Given the description of an element on the screen output the (x, y) to click on. 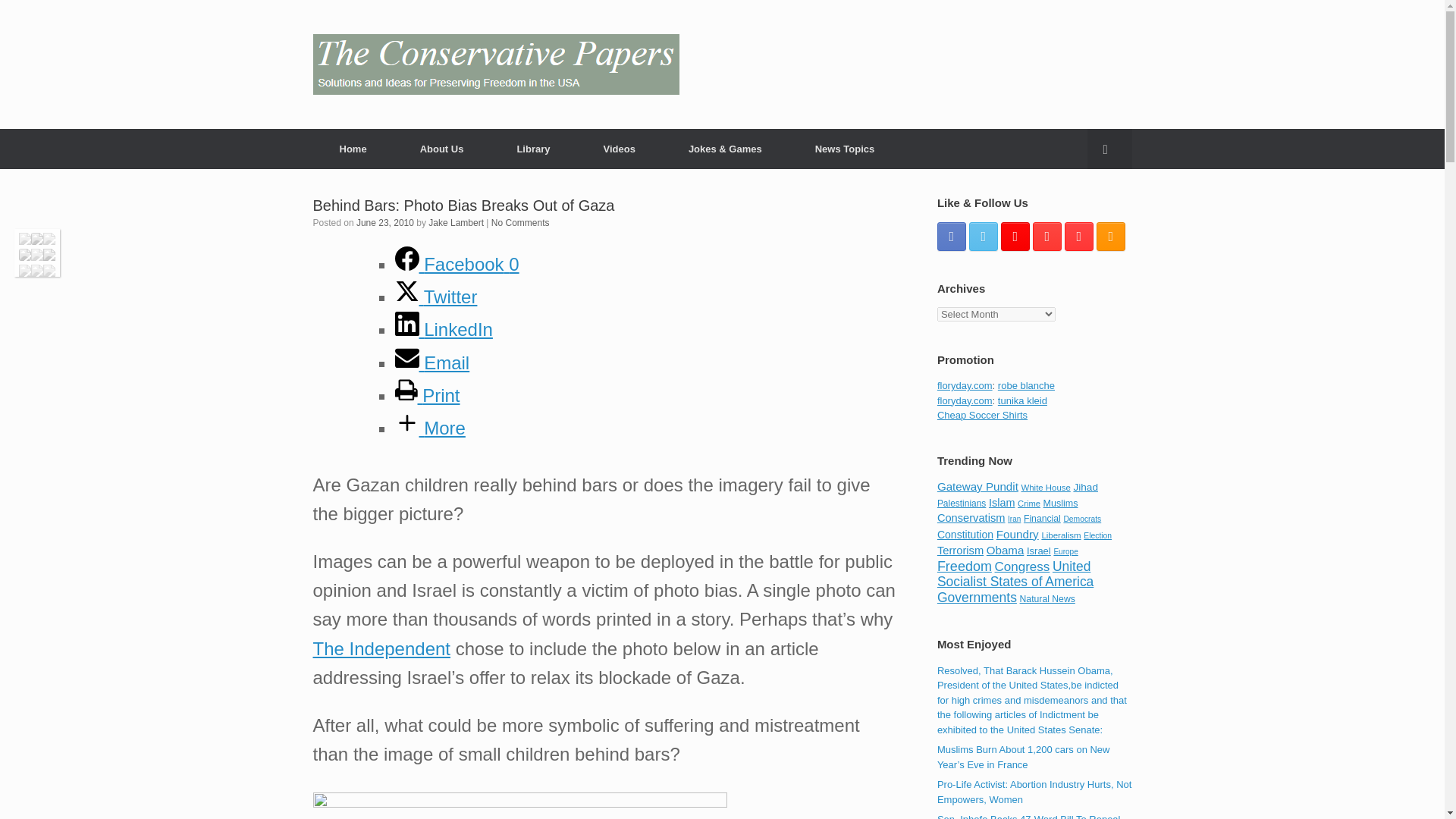
Jake Lambert (455, 222)
The Conservative Papers Google Plus (1015, 235)
January 1, 2013 (1023, 756)
News Topics (845, 148)
LinkedIn (443, 329)
March 23, 2014 (1034, 791)
11:48 pm (384, 222)
The Conservative Papers Facebook (951, 235)
Email (431, 362)
About Us (441, 148)
